Given the description of an element on the screen output the (x, y) to click on. 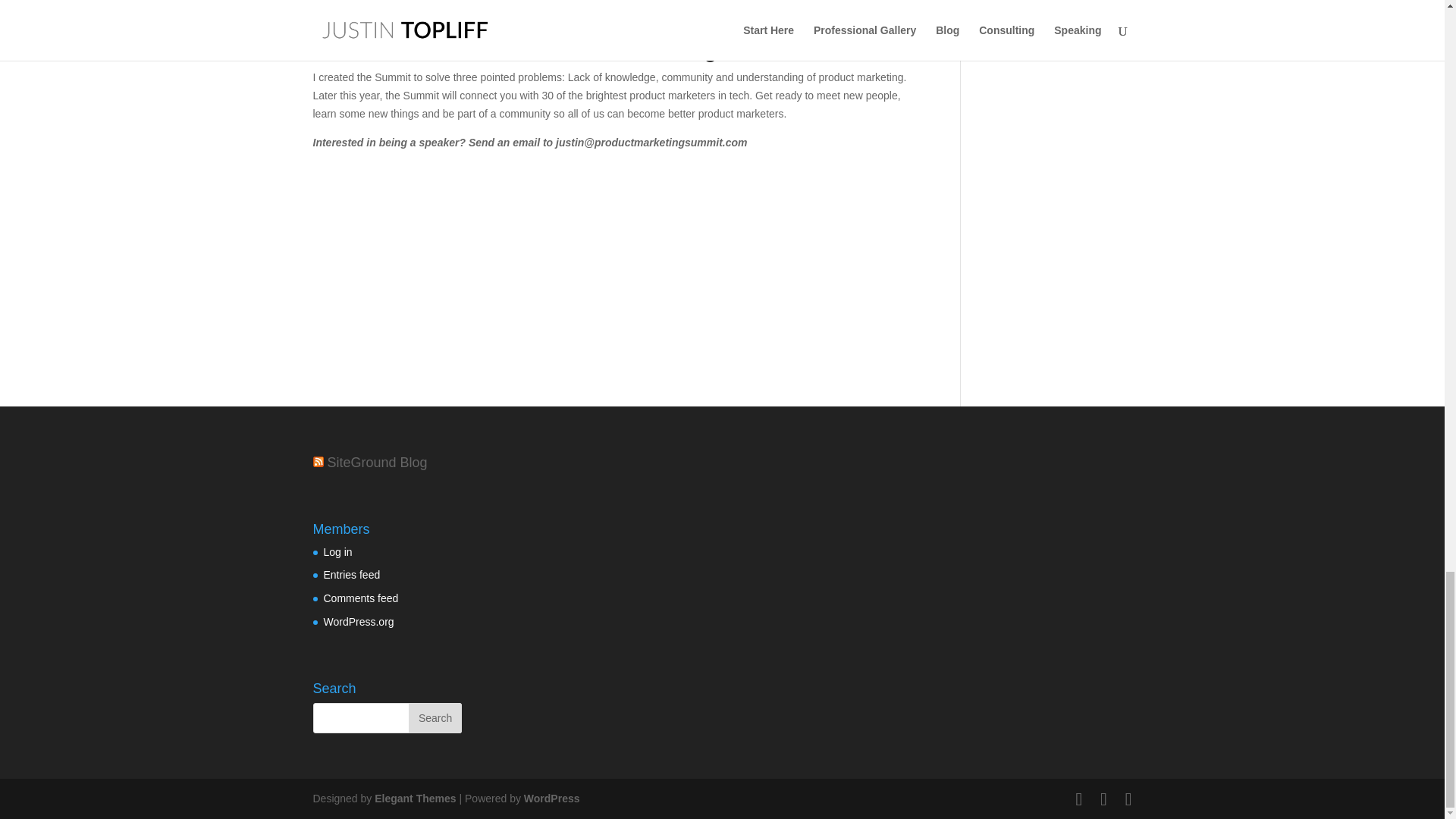
Search (435, 717)
Product Marketing Summit (665, 49)
Premium WordPress Themes (414, 798)
